Given the description of an element on the screen output the (x, y) to click on. 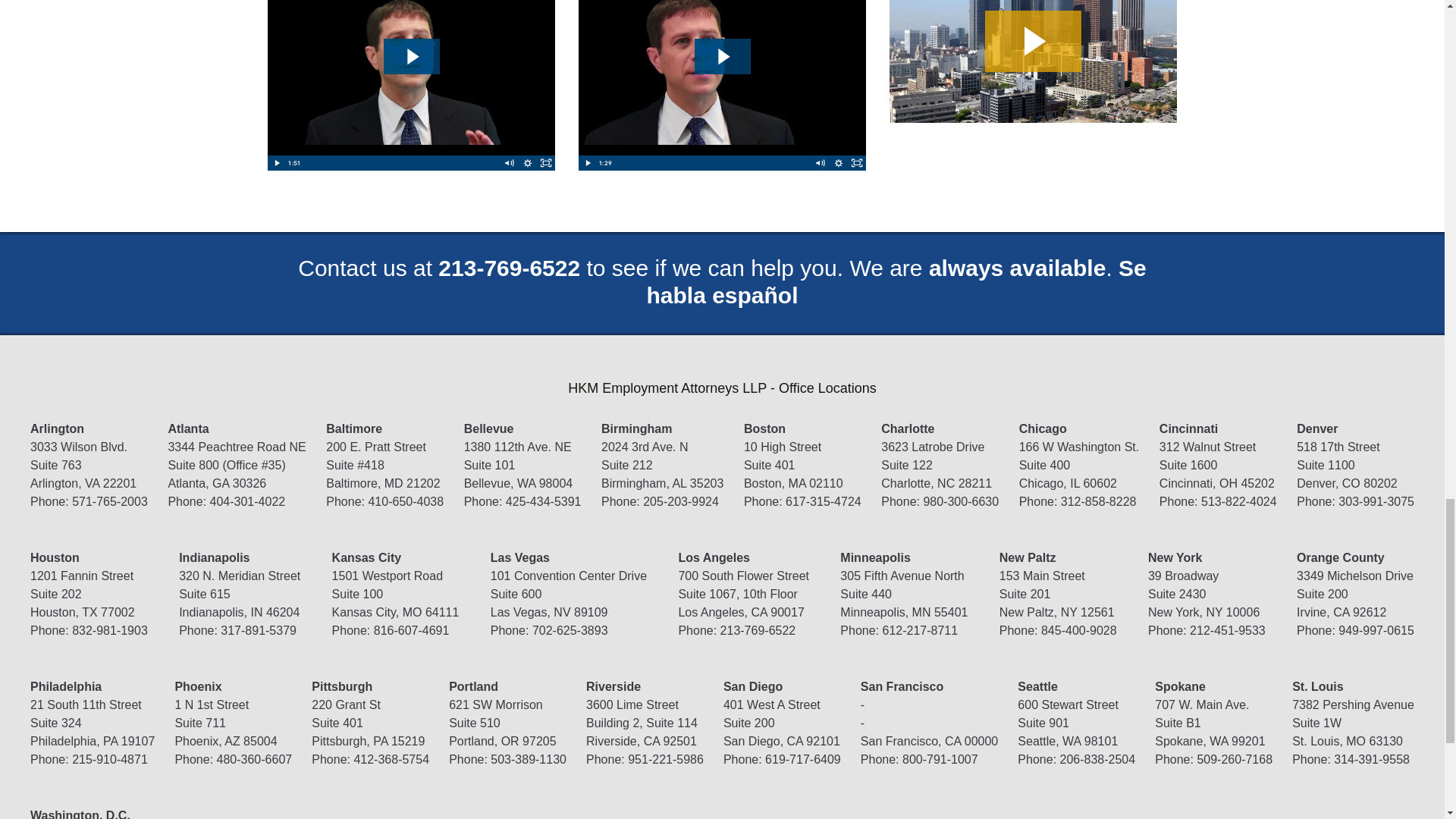
Do I Need an Employment Attorney Video (410, 85)
Why Choose HKM Employment Attorneys Video (722, 85)
